Given the description of an element on the screen output the (x, y) to click on. 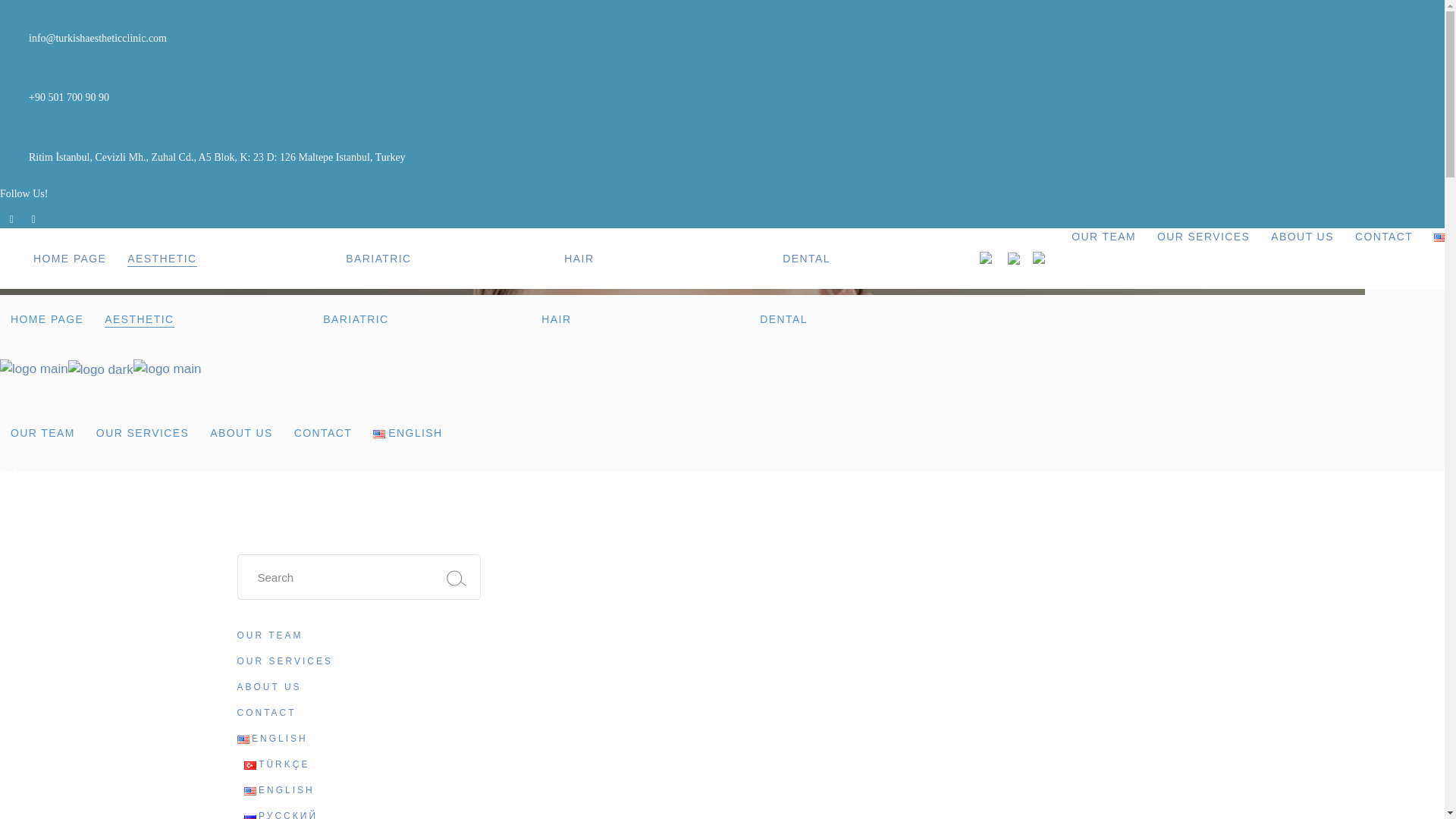
AESTHETIC (226, 258)
HOME PAGE (69, 258)
